Given the description of an element on the screen output the (x, y) to click on. 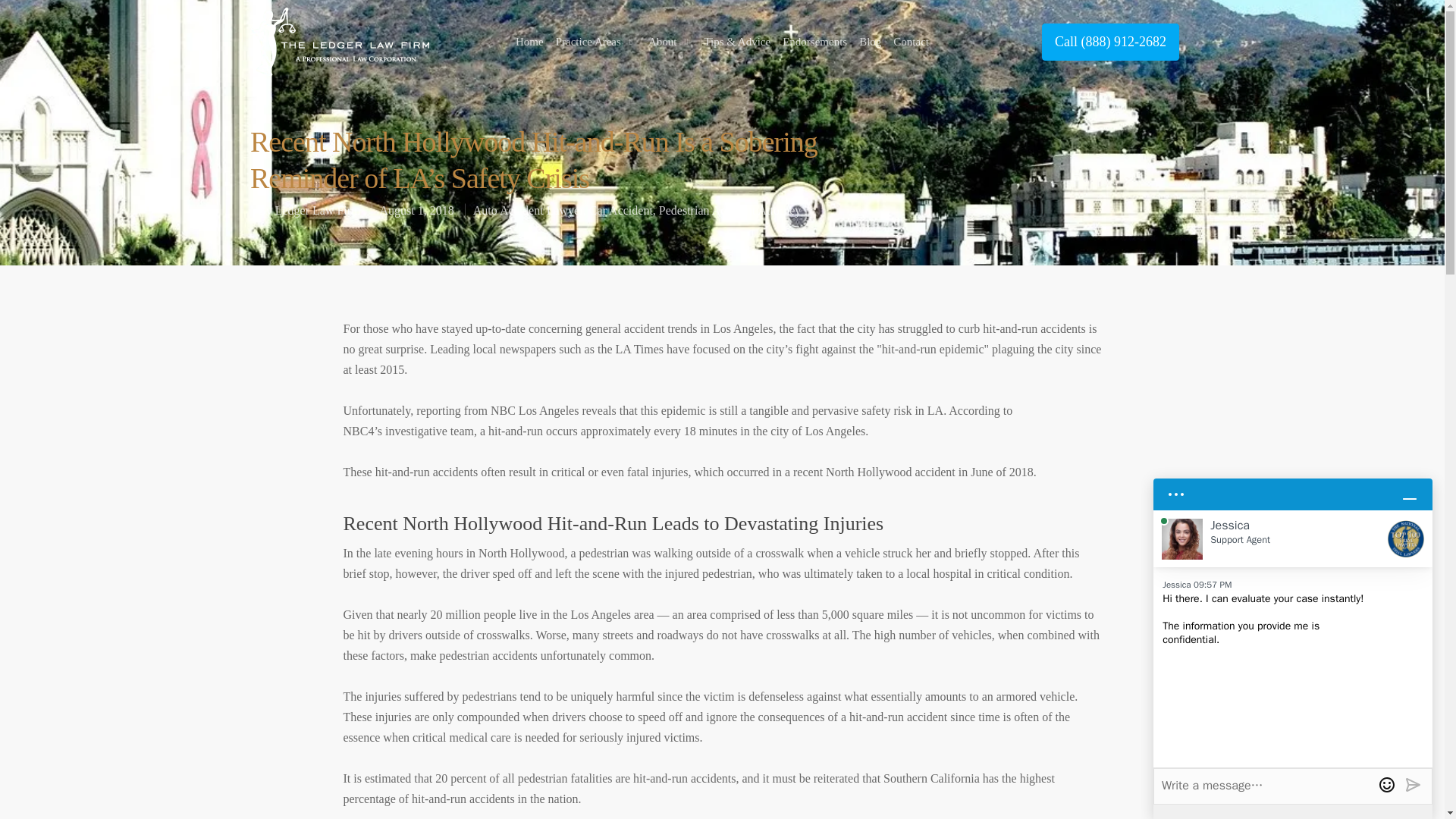
Auto Accident Lawyer (528, 209)
Ledger Law Firm (318, 209)
Endorsements (815, 41)
Posts by Ledger Law Firm (318, 209)
Car Accident (620, 209)
Blog (869, 41)
Contact (910, 41)
Practice Areas (596, 41)
About (670, 41)
Pedestrian Accident Attorney (730, 209)
Home (529, 41)
